Given the description of an element on the screen output the (x, y) to click on. 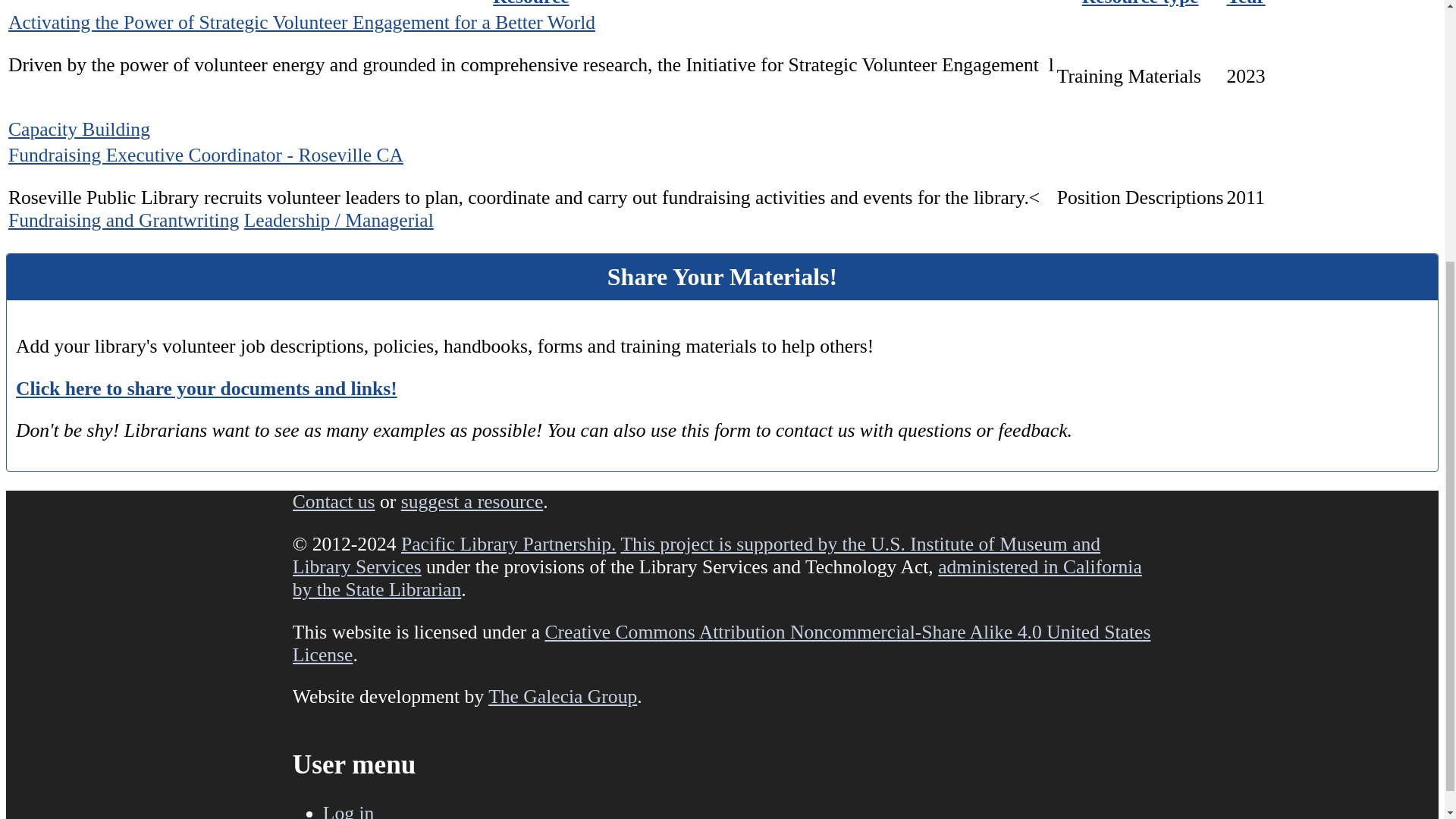
Resource (531, 3)
Capacity Building (78, 128)
Contact us (333, 501)
Fundraising and Grantwriting (123, 219)
administered in California by the State Librarian (716, 578)
The Galecia Group (562, 696)
sort by Year (1245, 3)
